Given the description of an element on the screen output the (x, y) to click on. 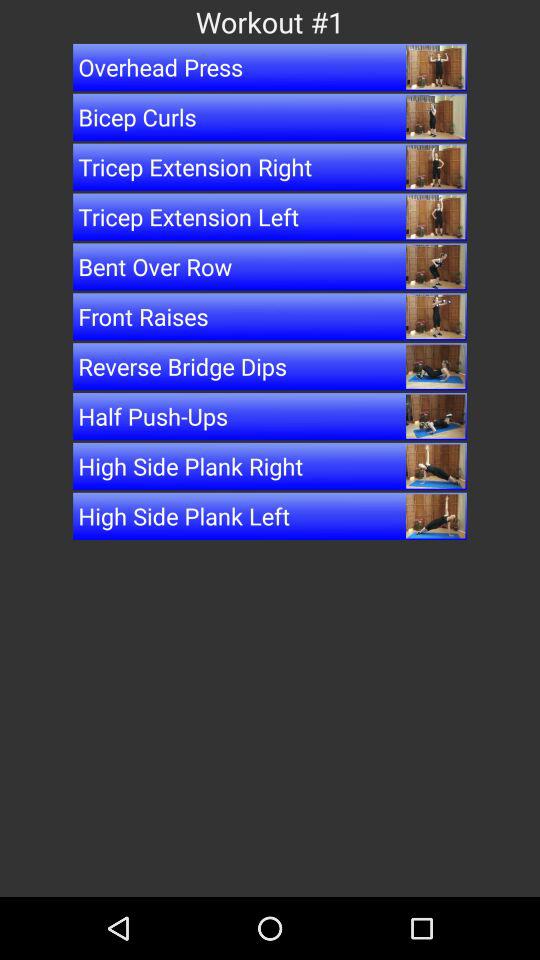
click button above tricep extension right item (269, 116)
